Given the description of an element on the screen output the (x, y) to click on. 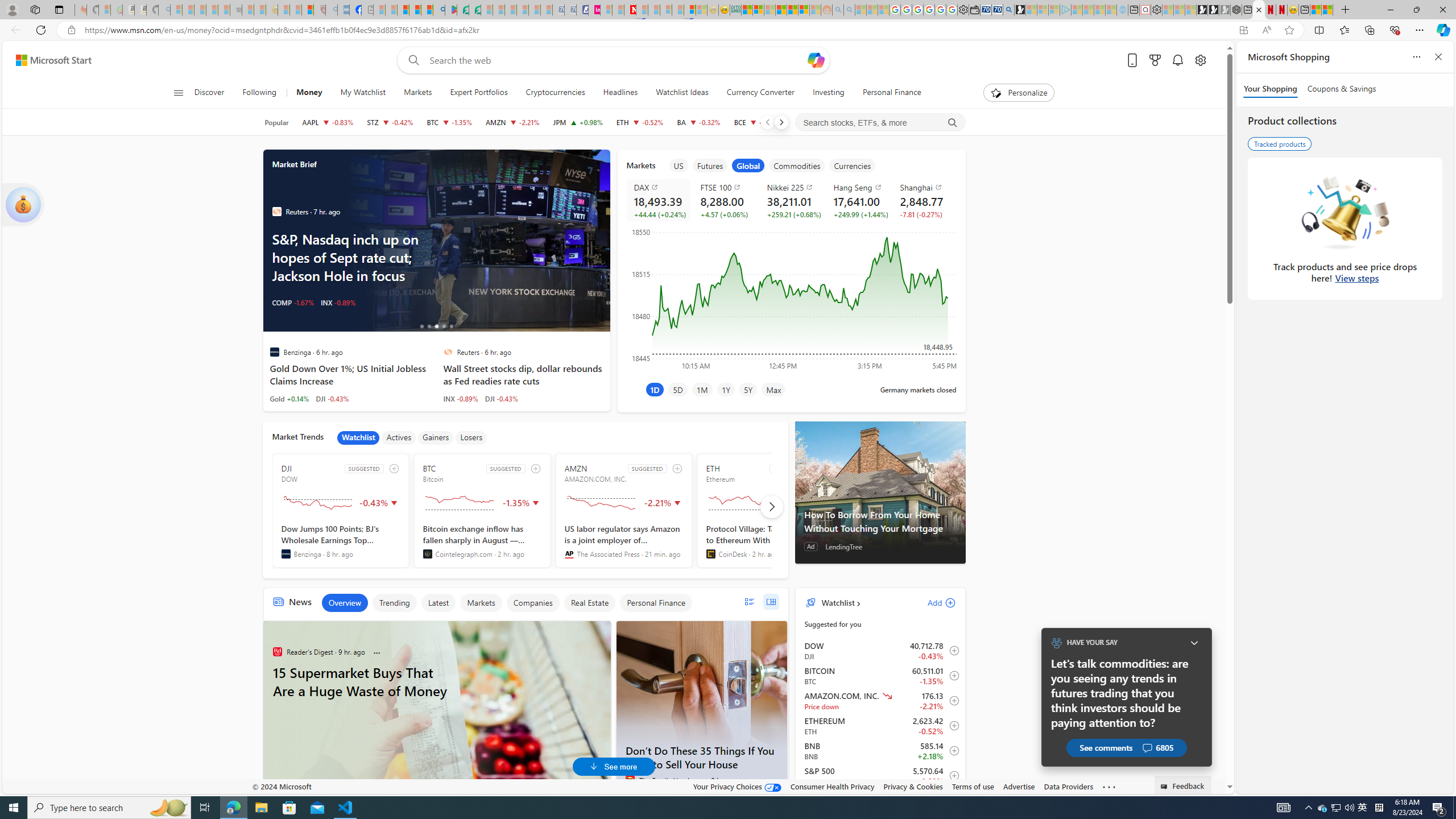
Gainers (435, 437)
MSNBC - MSN (746, 9)
ETH SUGGESTED Ethereum (765, 510)
STZ CONSTELLATION BRANDS, INC. decrease 243.70 -1.04 -0.42% (389, 122)
Gold +0.14% (288, 397)
AMZN AMAZON.COM, INC. decrease 176.13 -3.98 -2.21% (512, 122)
Watchlist Ideas (681, 92)
item4 (796, 164)
Previous (767, 122)
